Given the description of an element on the screen output the (x, y) to click on. 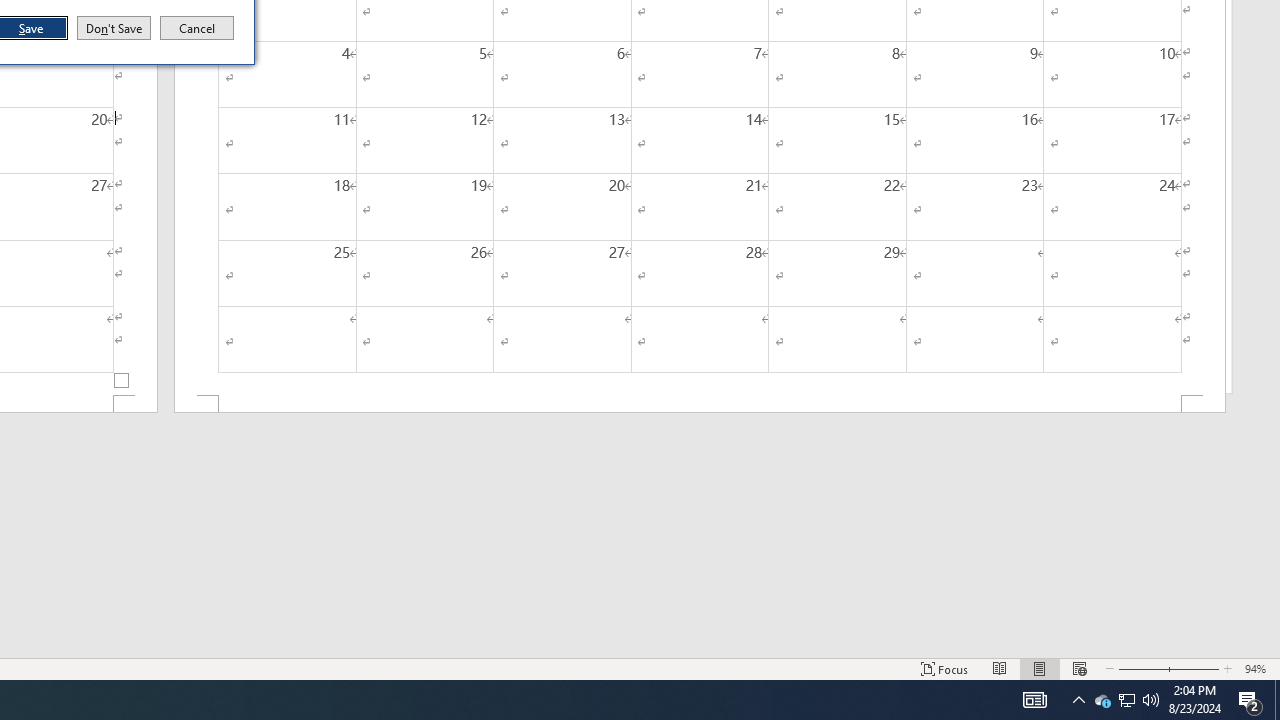
Footer -Section 2- (700, 404)
